Given the description of an element on the screen output the (x, y) to click on. 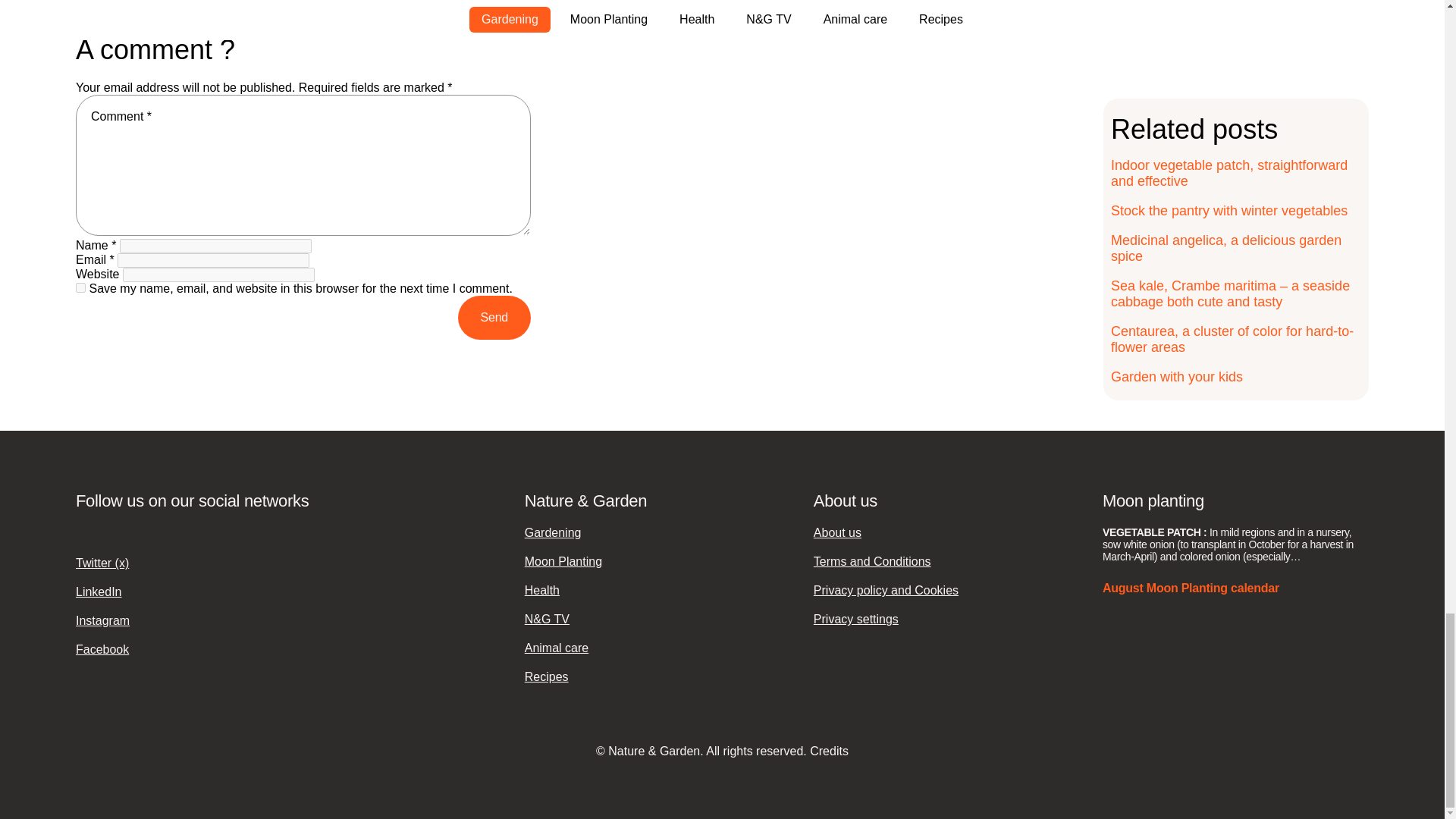
yes (80, 287)
